Given the description of an element on the screen output the (x, y) to click on. 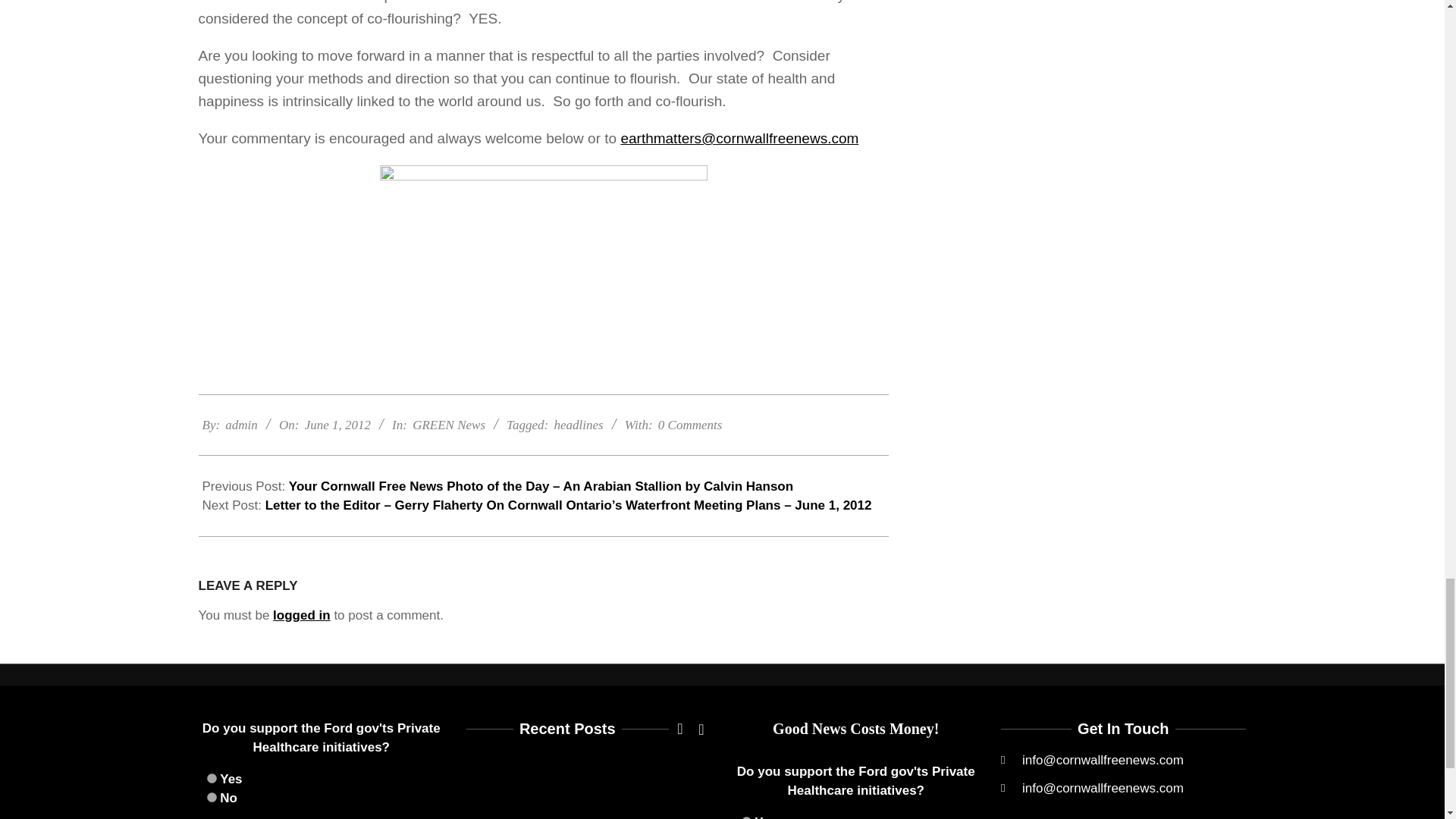
Posts by admin (241, 424)
Friday, June 1, 2012, 9:38 am (337, 424)
1776 (210, 777)
1777 (210, 797)
